Given the description of an element on the screen output the (x, y) to click on. 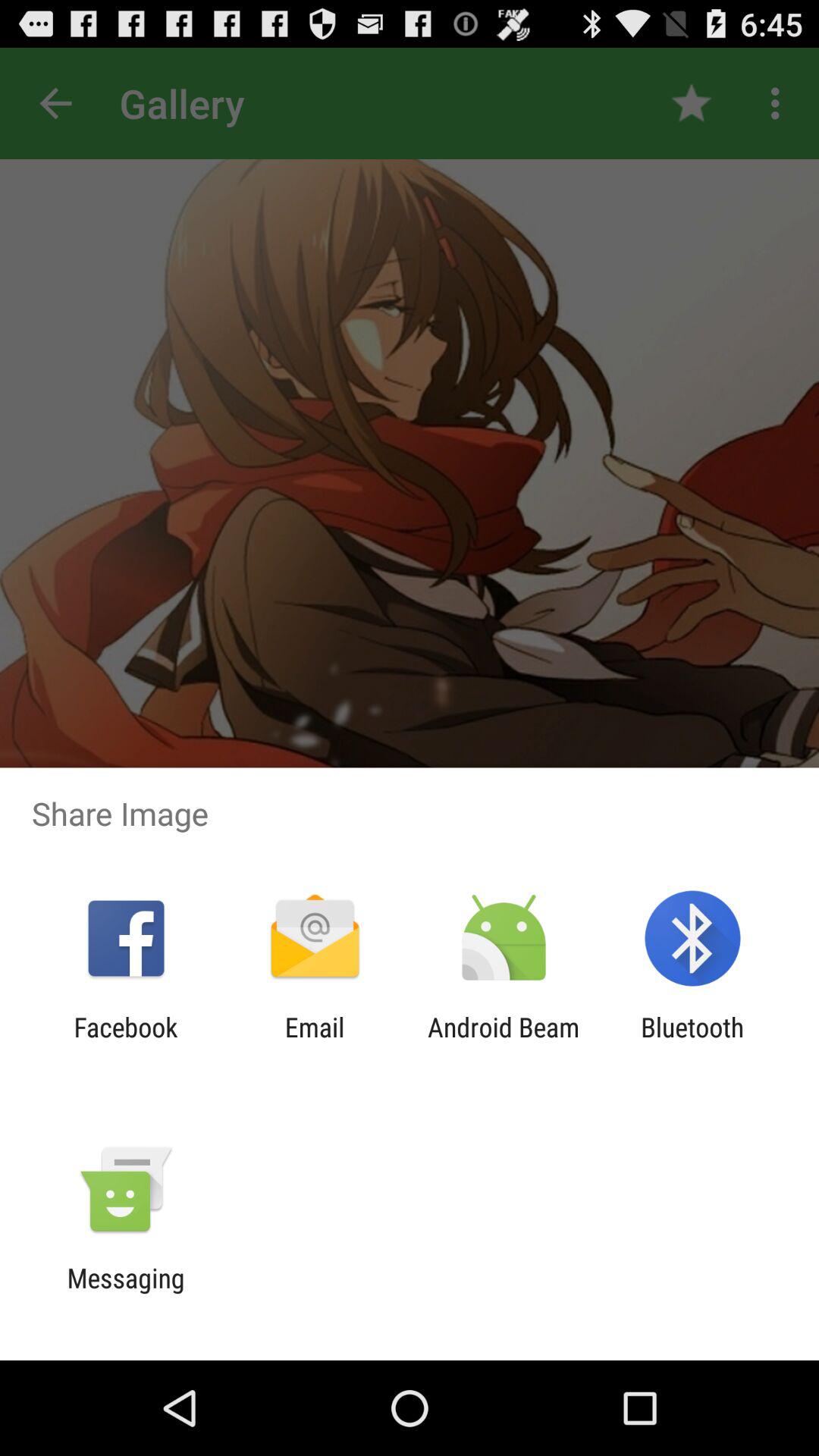
select the app next to bluetooth icon (503, 1042)
